Given the description of an element on the screen output the (x, y) to click on. 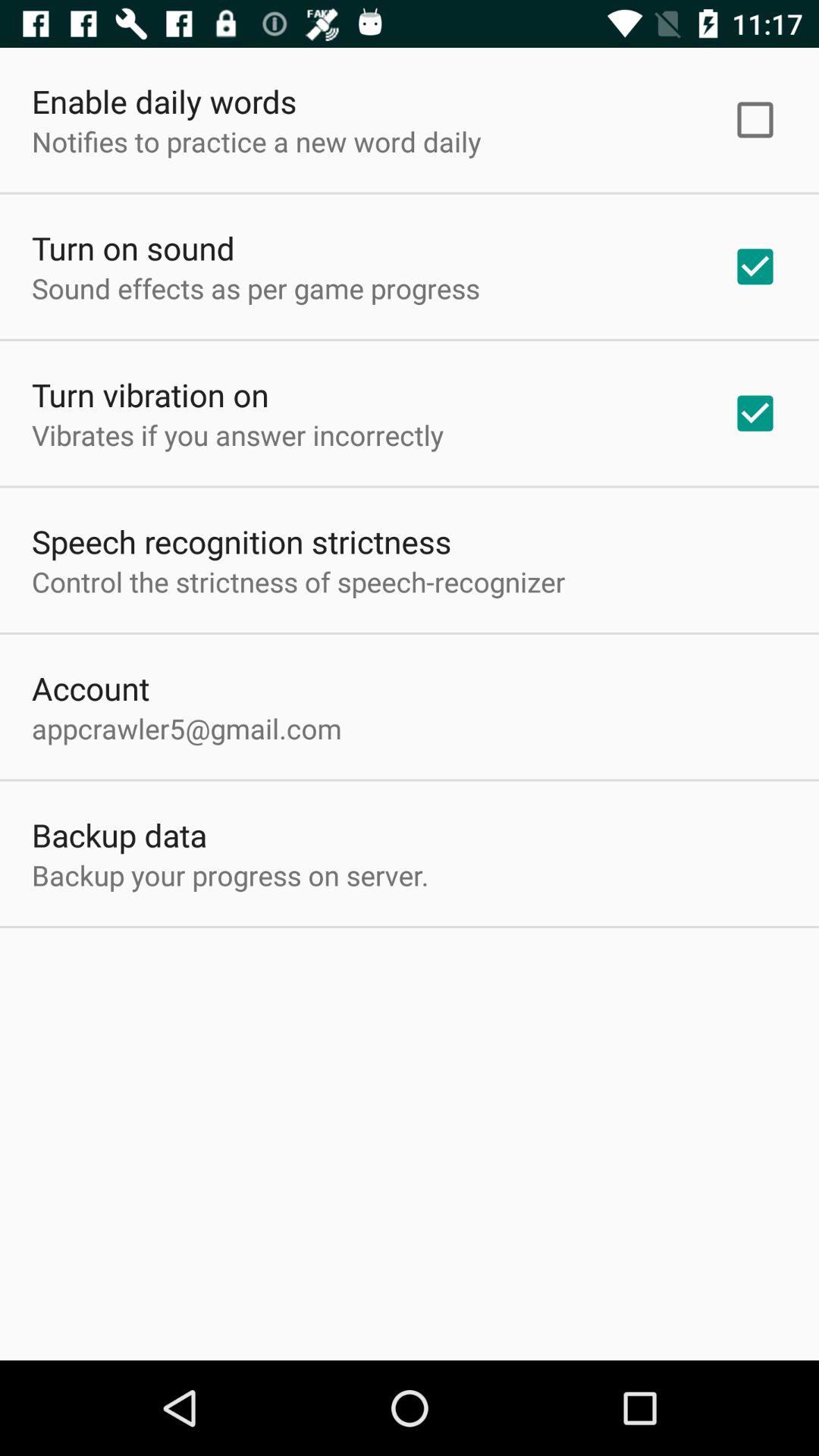
swipe until account app (90, 687)
